Given the description of an element on the screen output the (x, y) to click on. 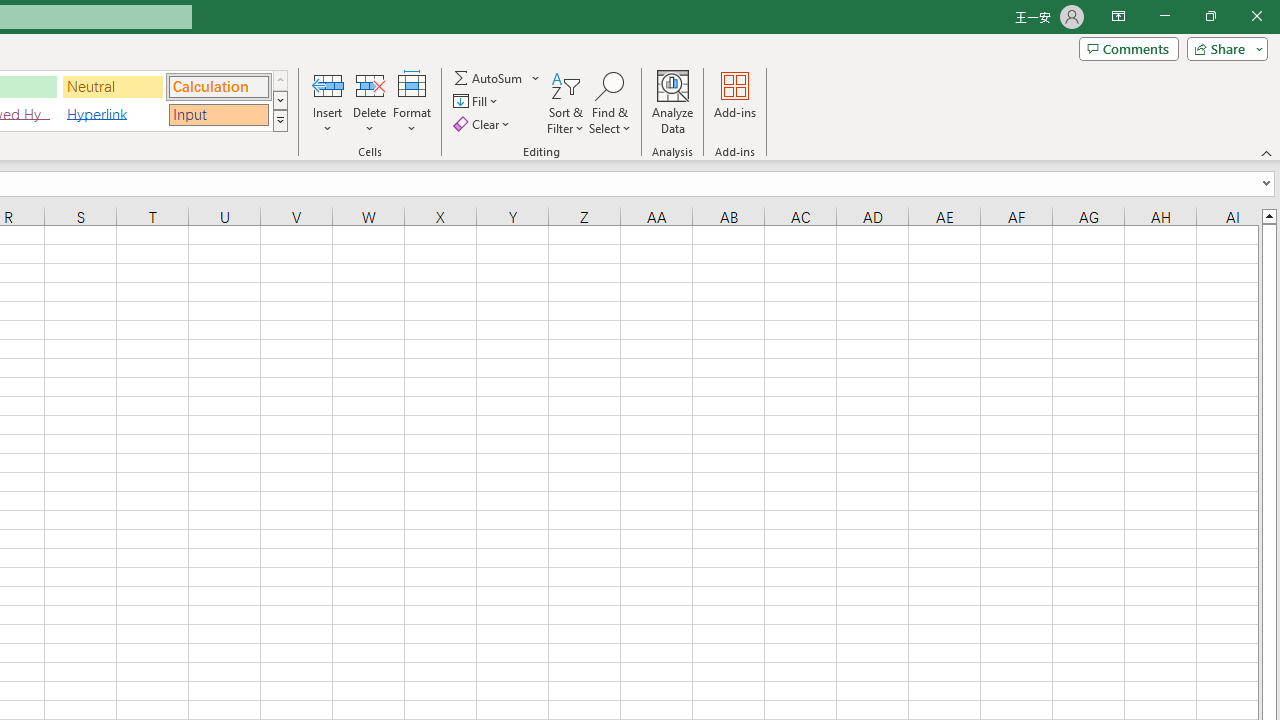
Input (218, 114)
Sort & Filter (566, 102)
Calculation (218, 86)
Cell Styles (280, 120)
AutoSum (497, 78)
